Given the description of an element on the screen output the (x, y) to click on. 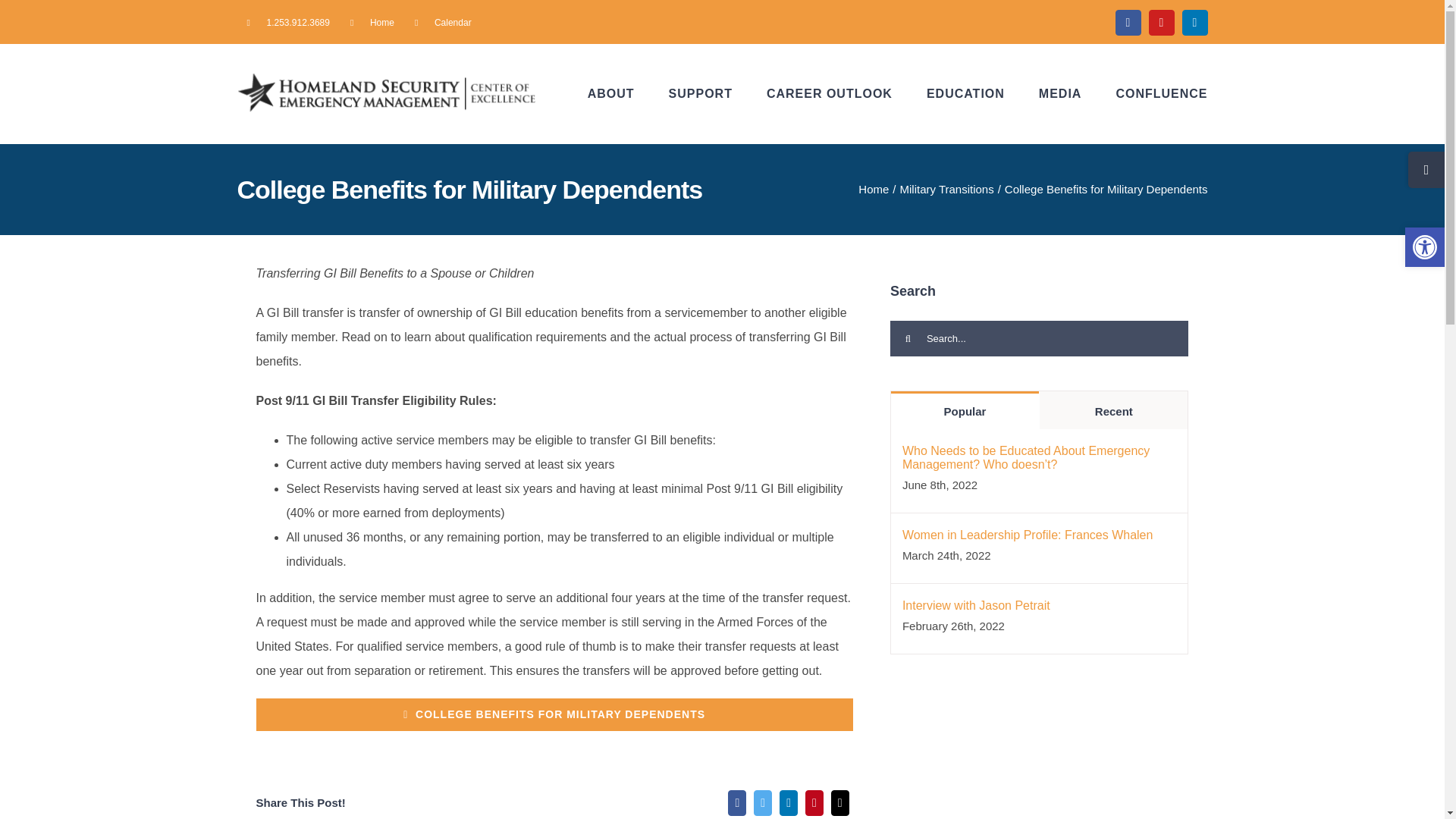
1.253.912.3689 (287, 22)
Calendar (442, 22)
Accessibility Tools (1424, 247)
Facebook (1128, 22)
LinkedIn (1195, 22)
CAREER OUTLOOK (829, 93)
Home (372, 22)
YouTube (1161, 22)
